Given the description of an element on the screen output the (x, y) to click on. 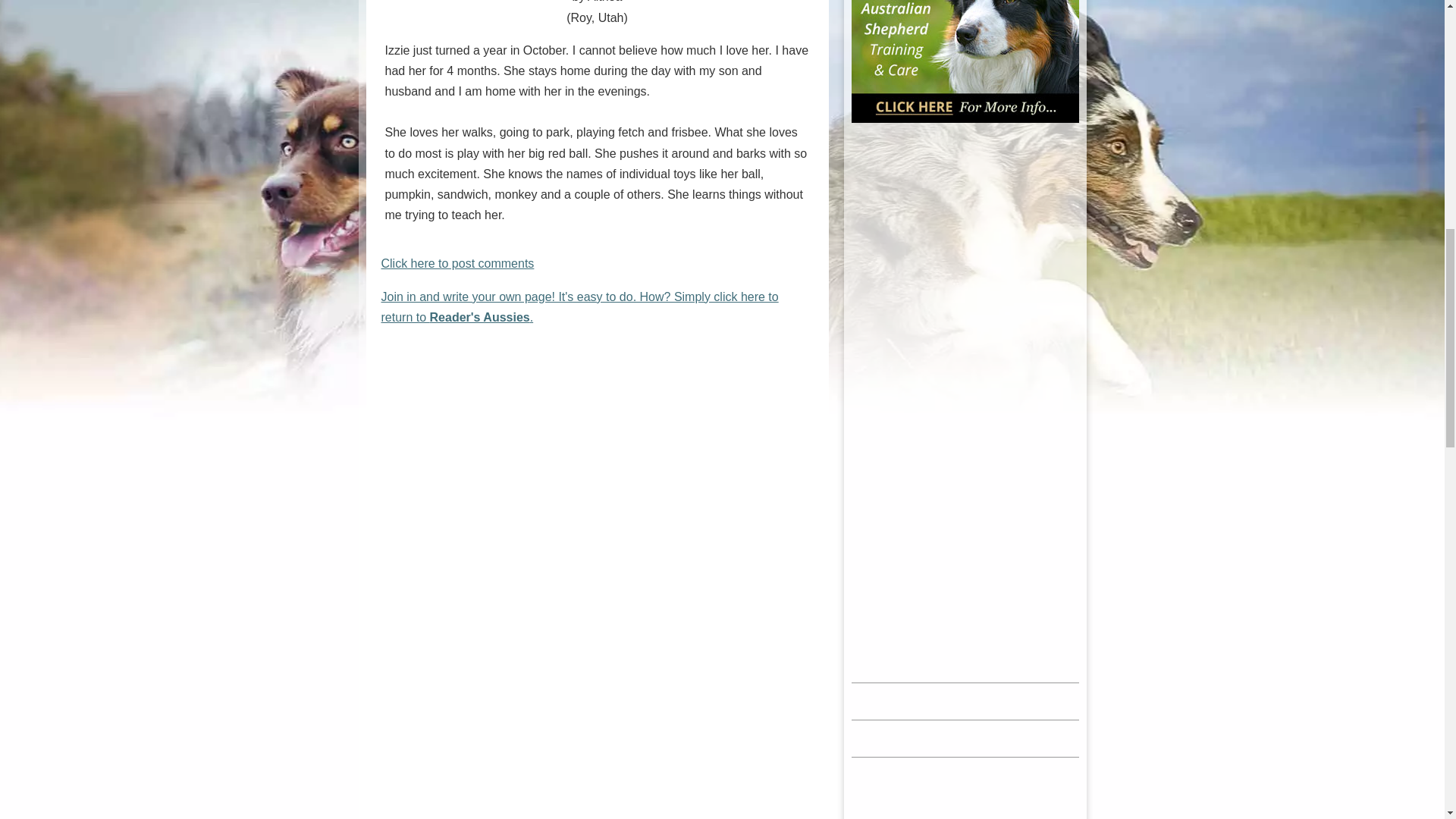
Are You An Australian Shepherd Breeder? Get Listed Here (964, 769)
Australian Shepherd Rescue (964, 788)
Australian Shepherd Breeders Directory (964, 751)
Australian Shepherd Puppies Available (964, 625)
